Given the description of an element on the screen output the (x, y) to click on. 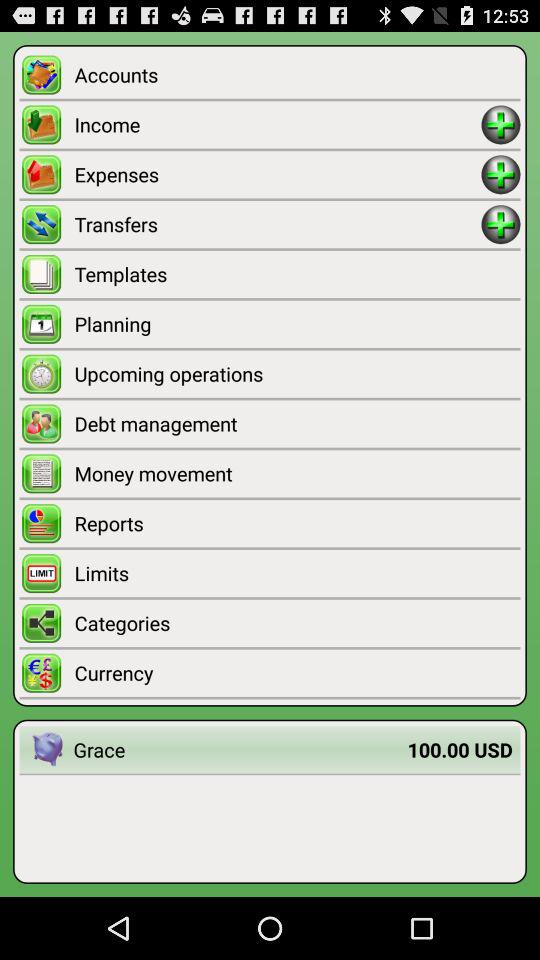
add transfer (500, 223)
